Given the description of an element on the screen output the (x, y) to click on. 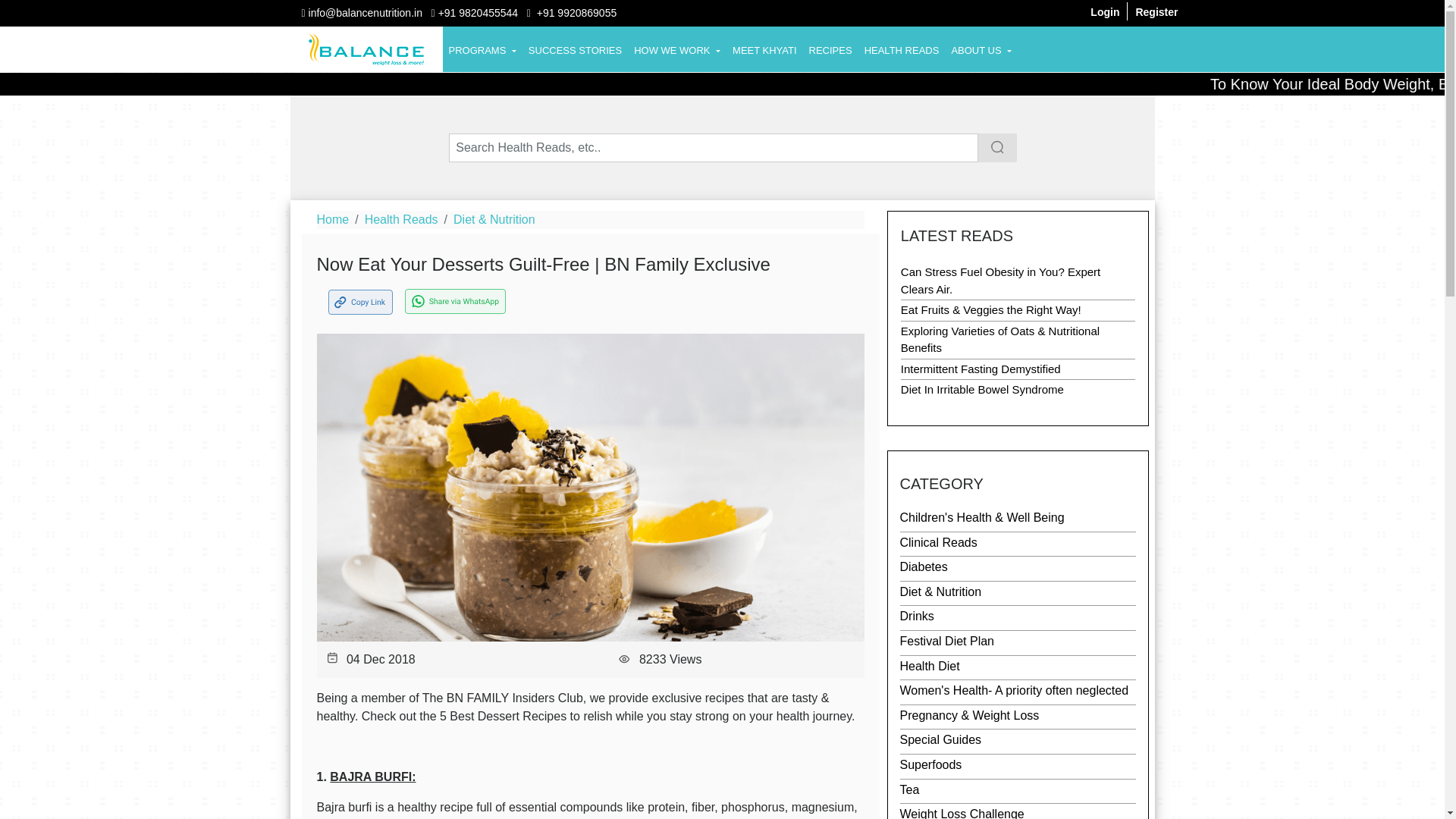
HEALTH READS (901, 41)
MEET KHYATI (764, 41)
RECIPES (831, 41)
SUCCESS STORIES (574, 41)
HOW WE WORK (676, 41)
Login (1104, 11)
Register (1156, 11)
ABOUT US (980, 41)
PROGRAMS (482, 41)
